Given the description of an element on the screen output the (x, y) to click on. 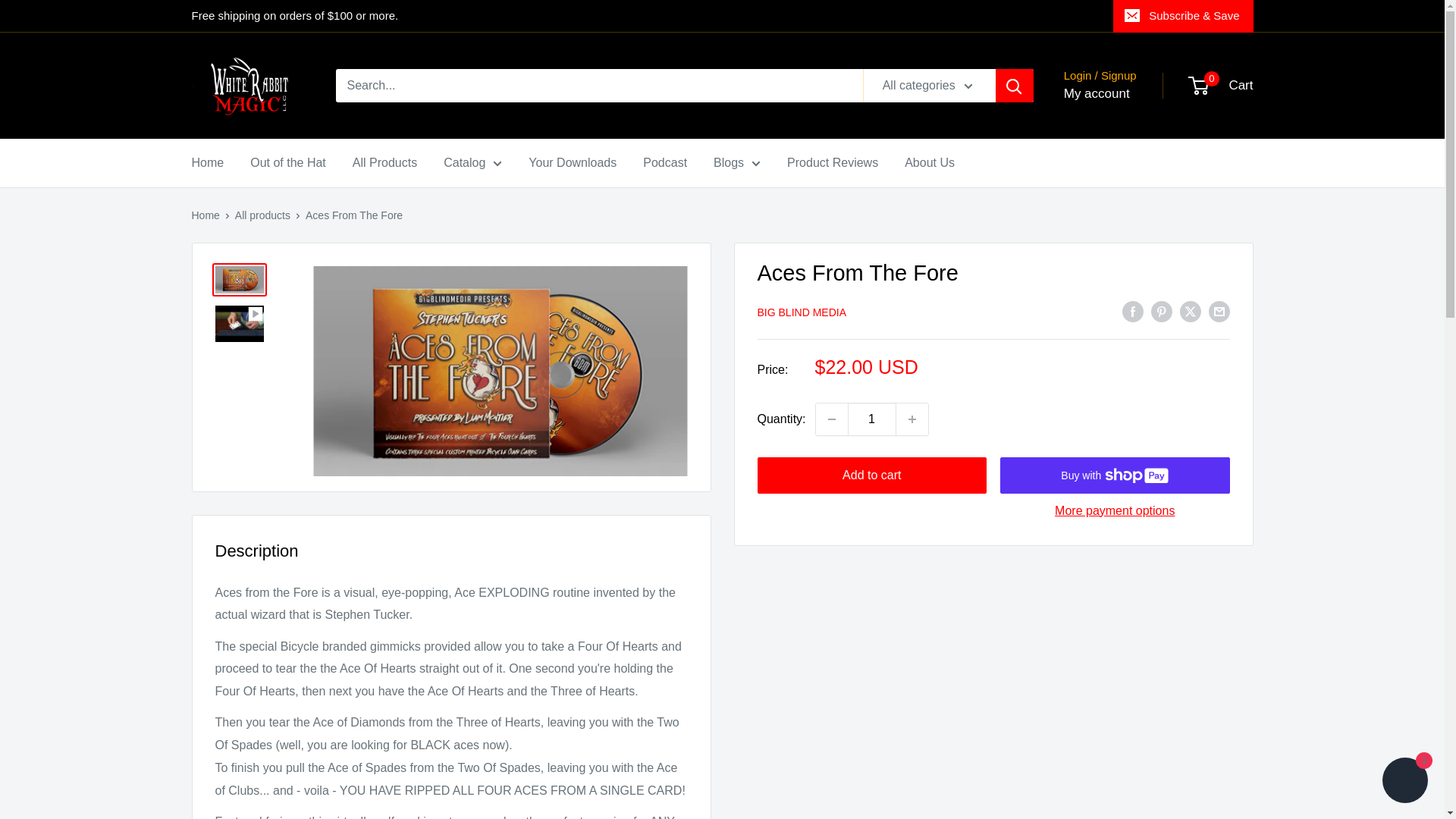
Shopify online store chat (1404, 781)
Increase quantity by 1 (912, 418)
Decrease quantity by 1 (831, 418)
1 (871, 418)
